Given the description of an element on the screen output the (x, y) to click on. 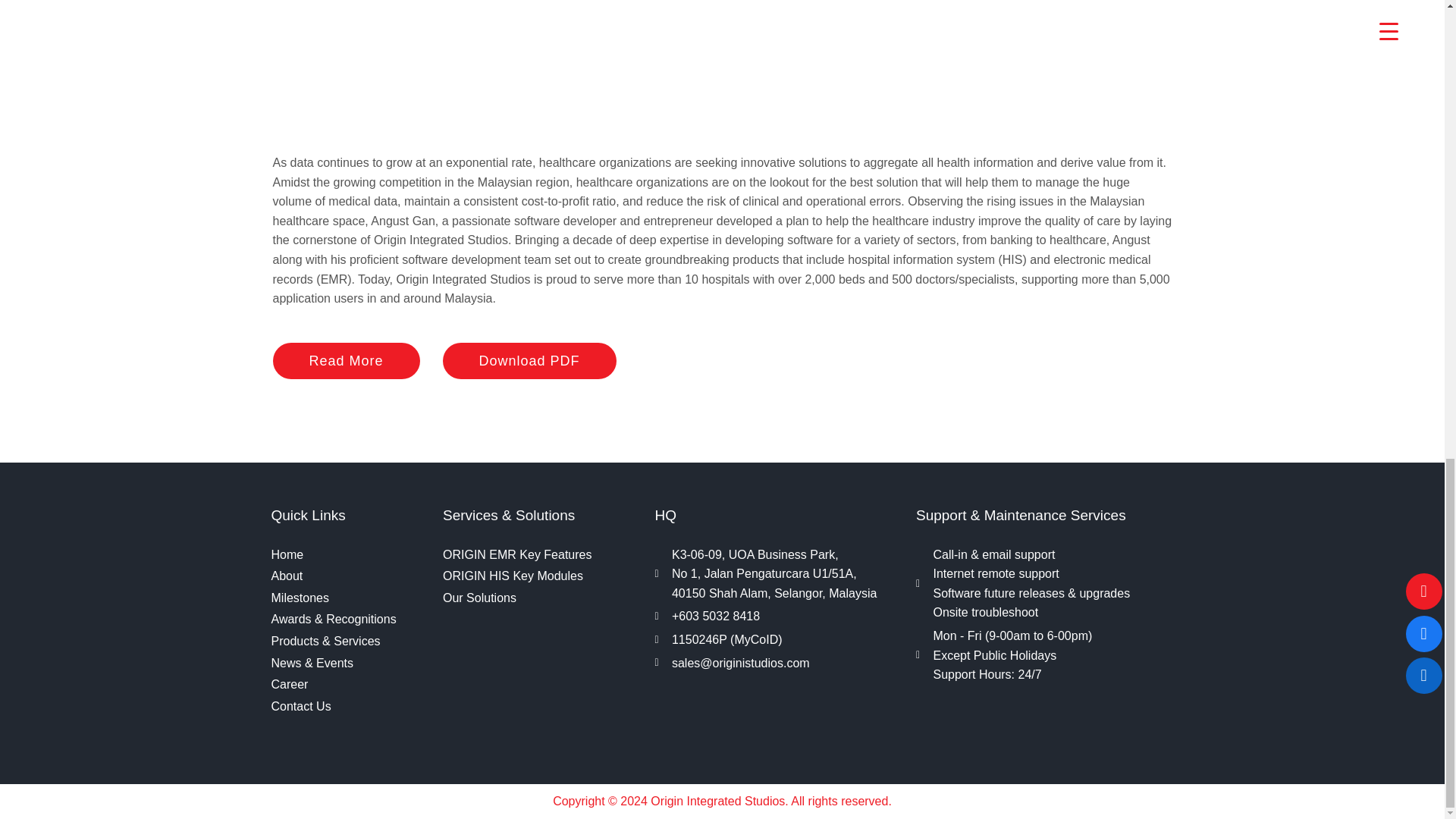
Home (349, 555)
Contact Us (349, 706)
About (349, 576)
Milestones (349, 598)
Career (349, 684)
Read More (346, 361)
Download PDF (528, 361)
